Given the description of an element on the screen output the (x, y) to click on. 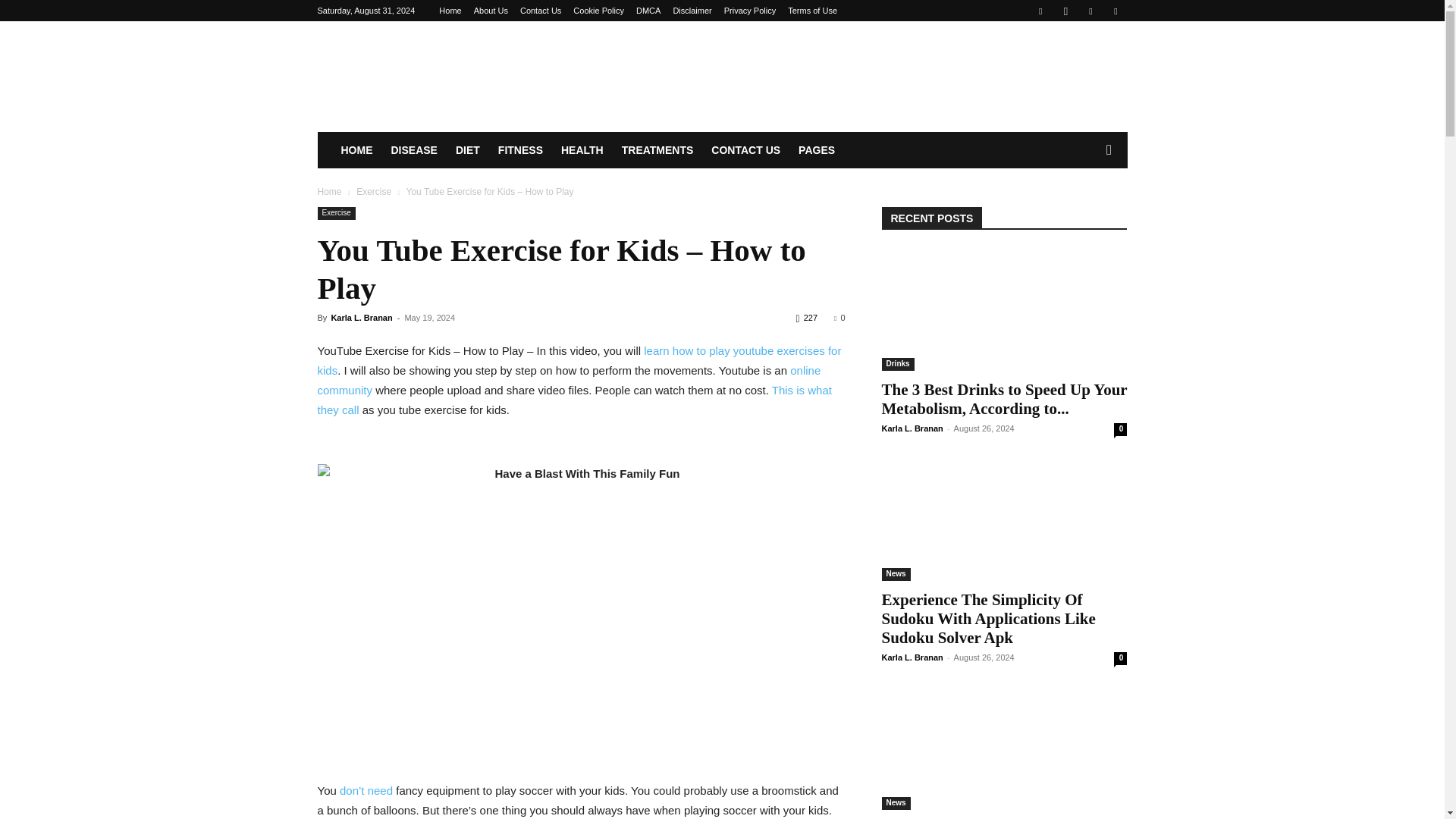
Instagram (1065, 10)
View all posts in Exercise (373, 191)
Facebook (1040, 10)
Twitter (1090, 10)
Youtube (1114, 10)
